Given the description of an element on the screen output the (x, y) to click on. 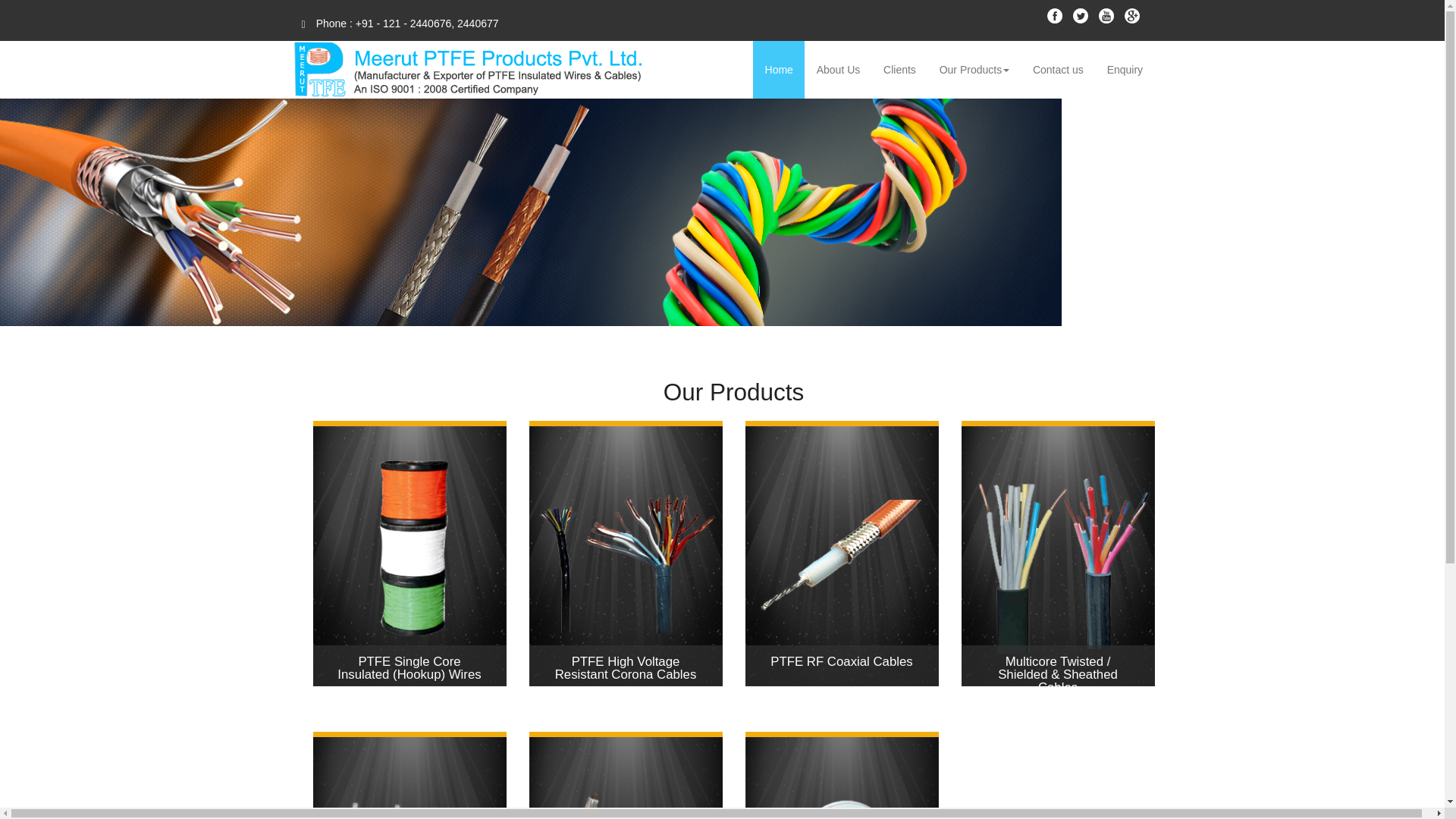
Our Products (973, 69)
Enquiry (1124, 69)
Home (778, 69)
Contact us (1059, 69)
Clients (900, 69)
PTFE Thermocouple Compensating Cables (409, 778)
About Us (837, 69)
